Given the description of an element on the screen output the (x, y) to click on. 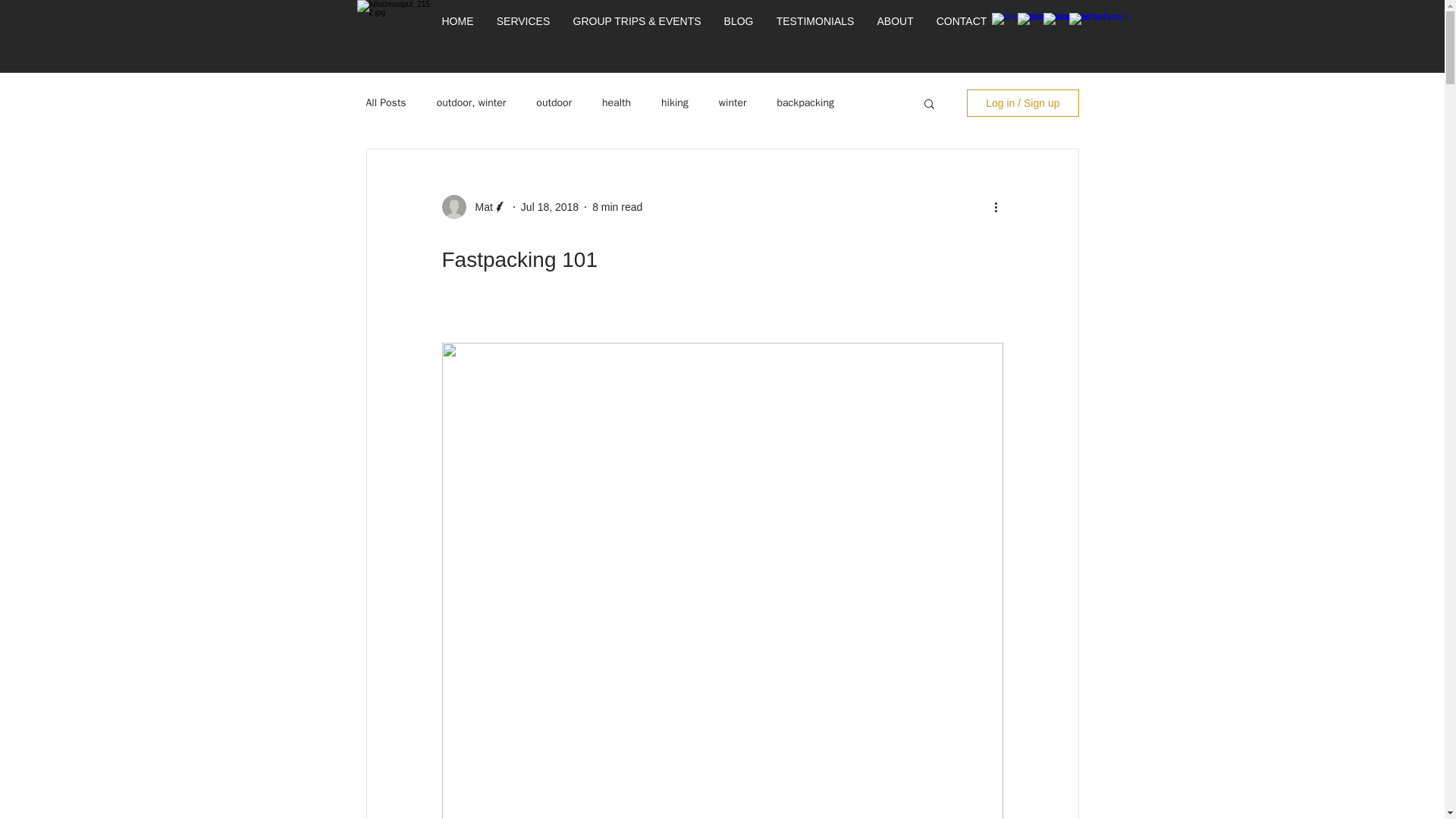
outdoor, winter (471, 102)
Jul 18, 2018 (549, 205)
hiking (674, 102)
BLOG (739, 21)
health (616, 102)
8 min read (617, 205)
Mat (478, 206)
ABOUT (895, 21)
All Posts (385, 102)
backpacking (805, 102)
winter (732, 102)
SERVICES (523, 21)
CONTACT (961, 21)
outdoor (553, 102)
HOME (457, 21)
